Given the description of an element on the screen output the (x, y) to click on. 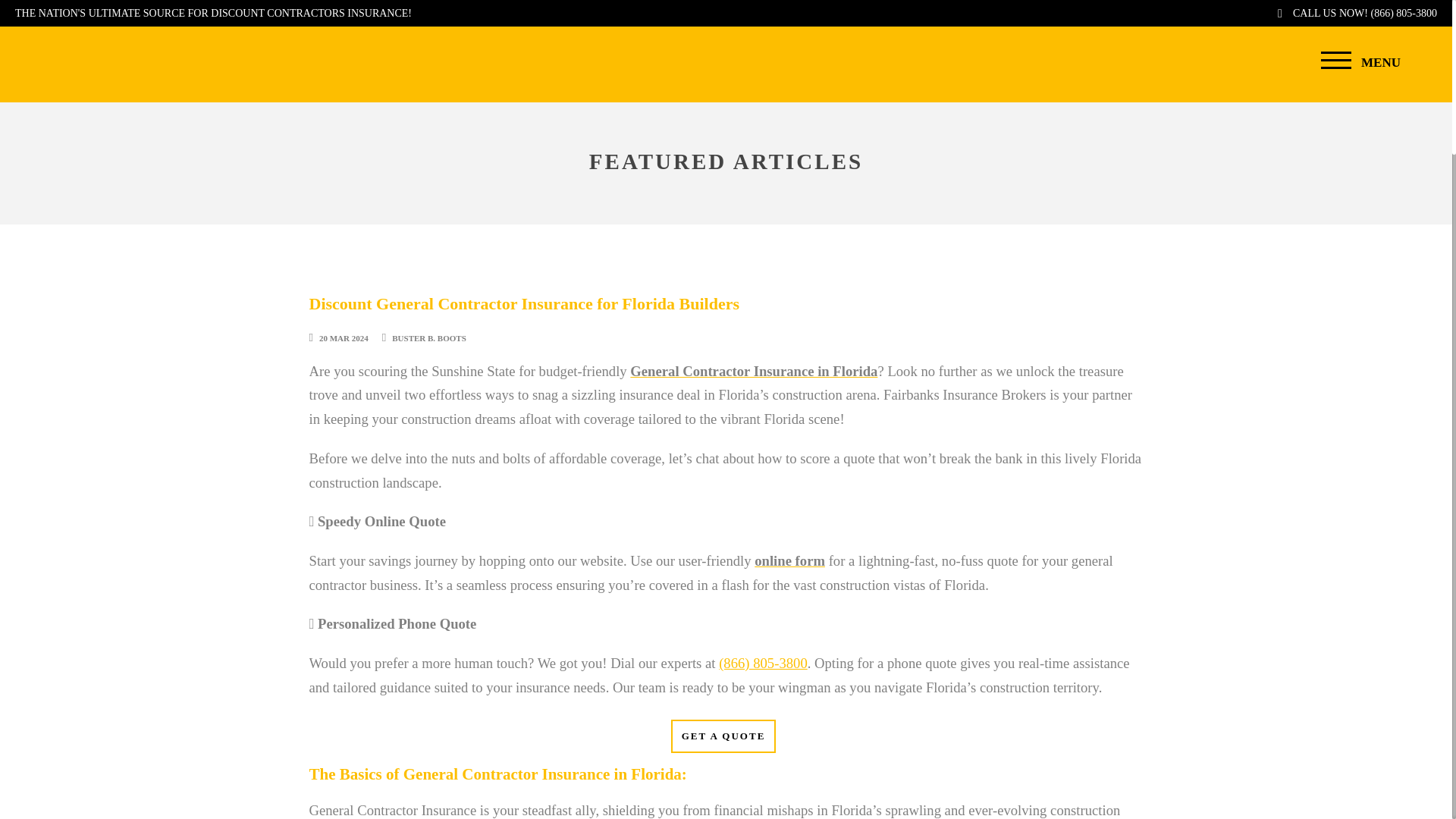
Posts by Buster B. Boots (428, 338)
